Given the description of an element on the screen output the (x, y) to click on. 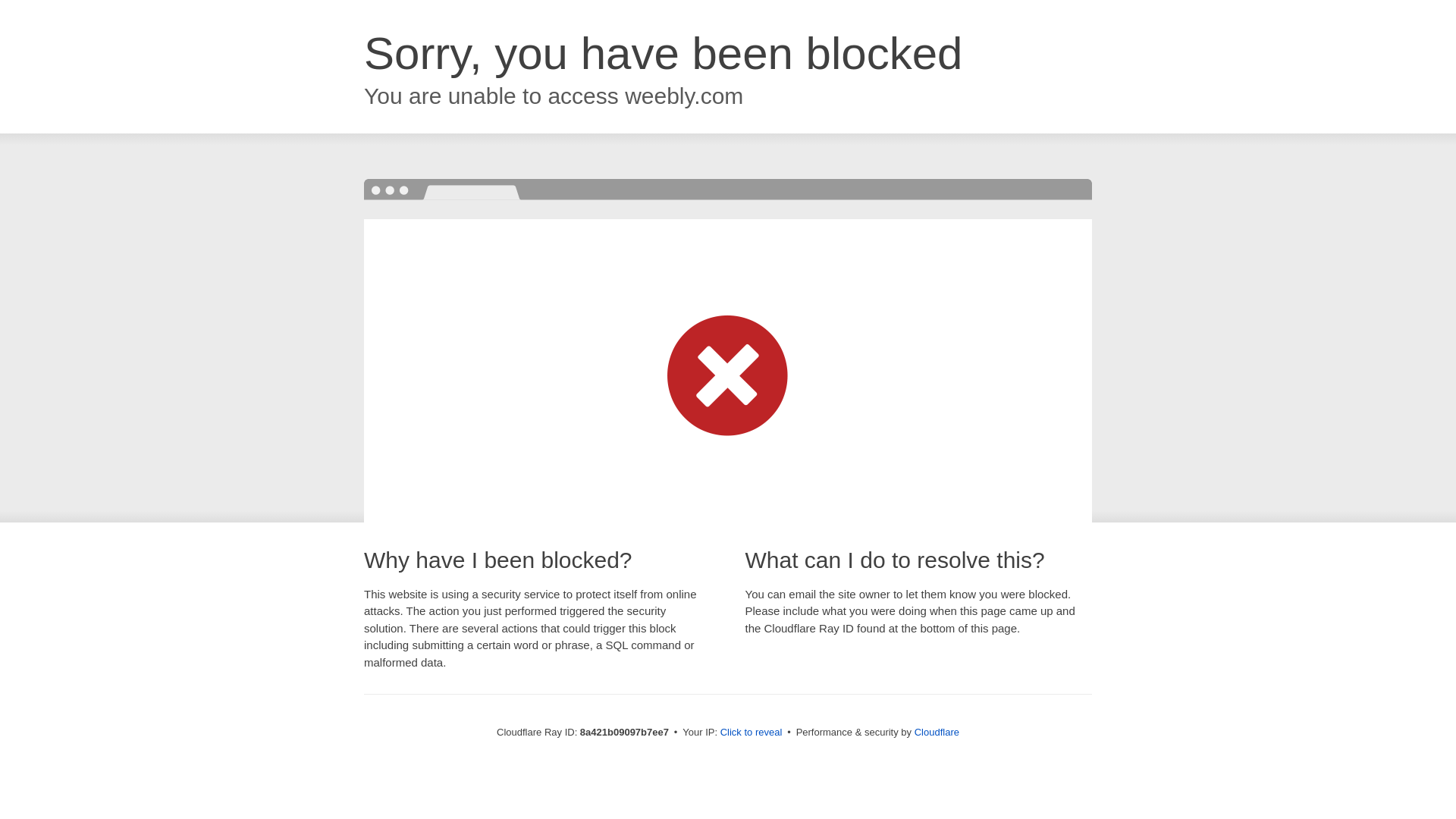
Click to reveal (751, 732)
Cloudflare (936, 731)
